Given the description of an element on the screen output the (x, y) to click on. 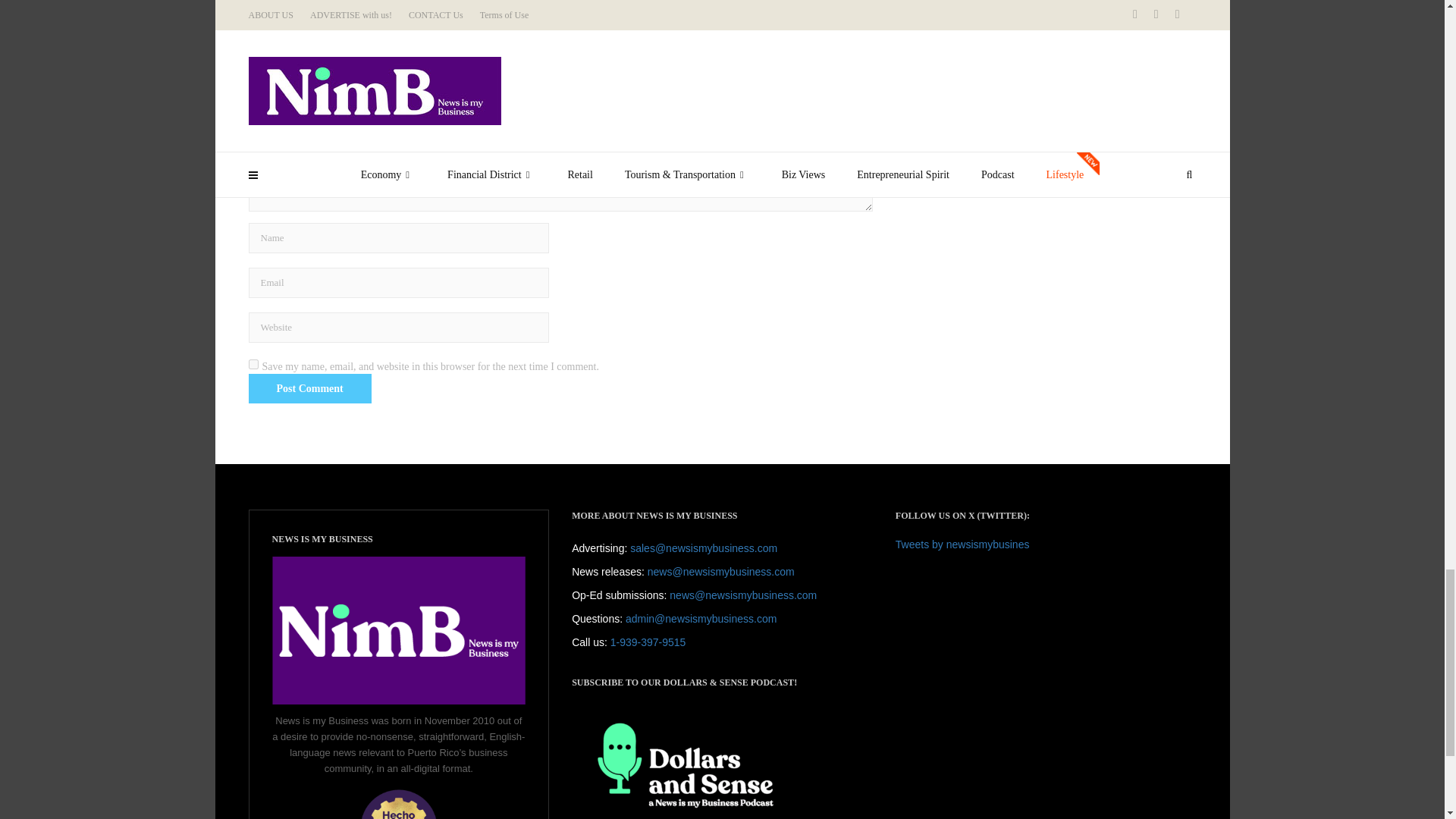
Post Comment (309, 388)
yes (253, 364)
